Given the description of an element on the screen output the (x, y) to click on. 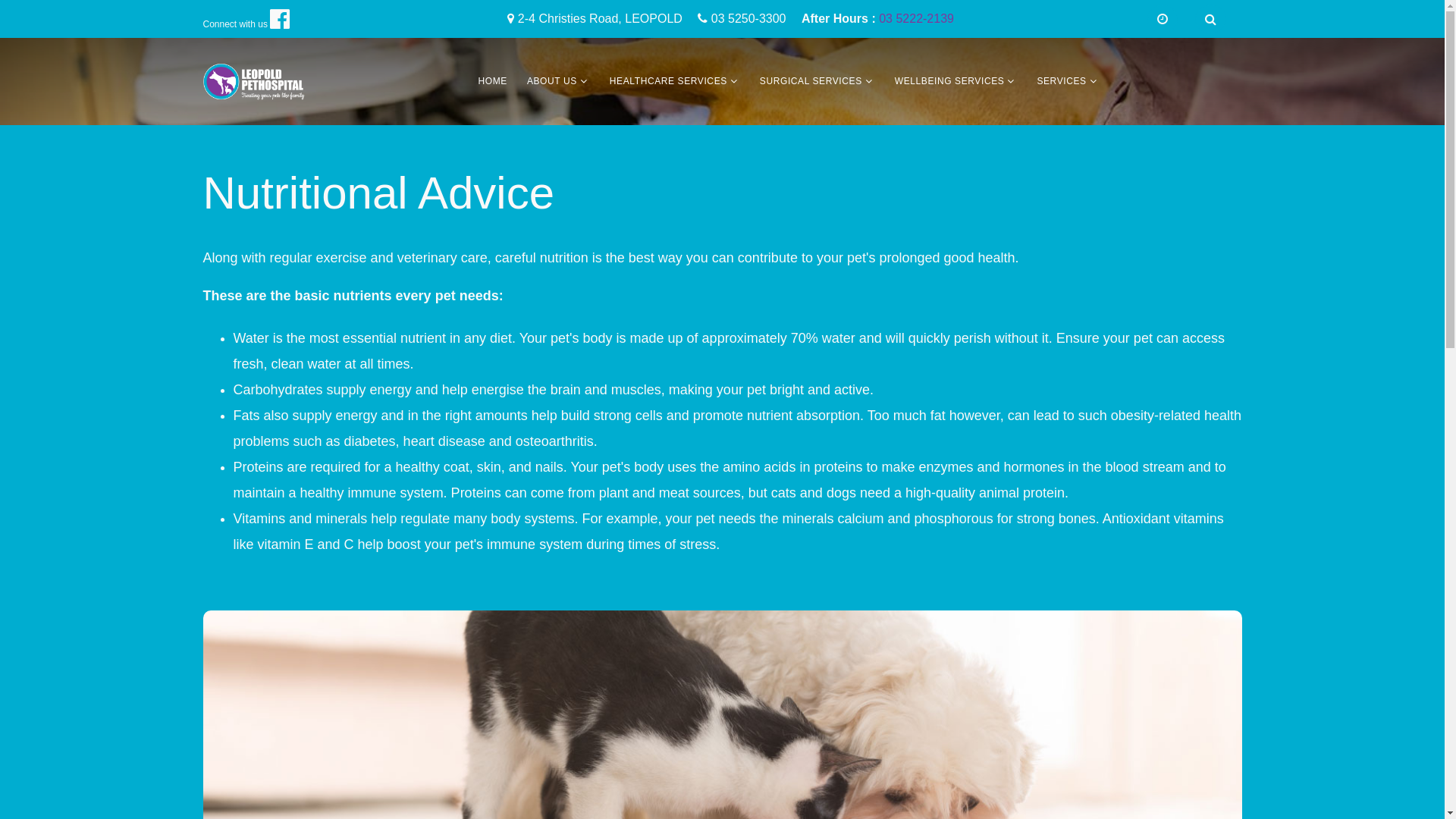
SERVICES Element type: text (1060, 81)
03 5250-3300 Element type: text (748, 19)
ABOUT US Element type: text (552, 81)
HEALTHCARE SERVICES Element type: text (668, 81)
HOME Element type: text (491, 81)
WELLBEING SERVICES Element type: text (949, 81)
SURGICAL SERVICES Element type: text (810, 81)
03 5222-2139 Element type: text (915, 19)
